Given the description of an element on the screen output the (x, y) to click on. 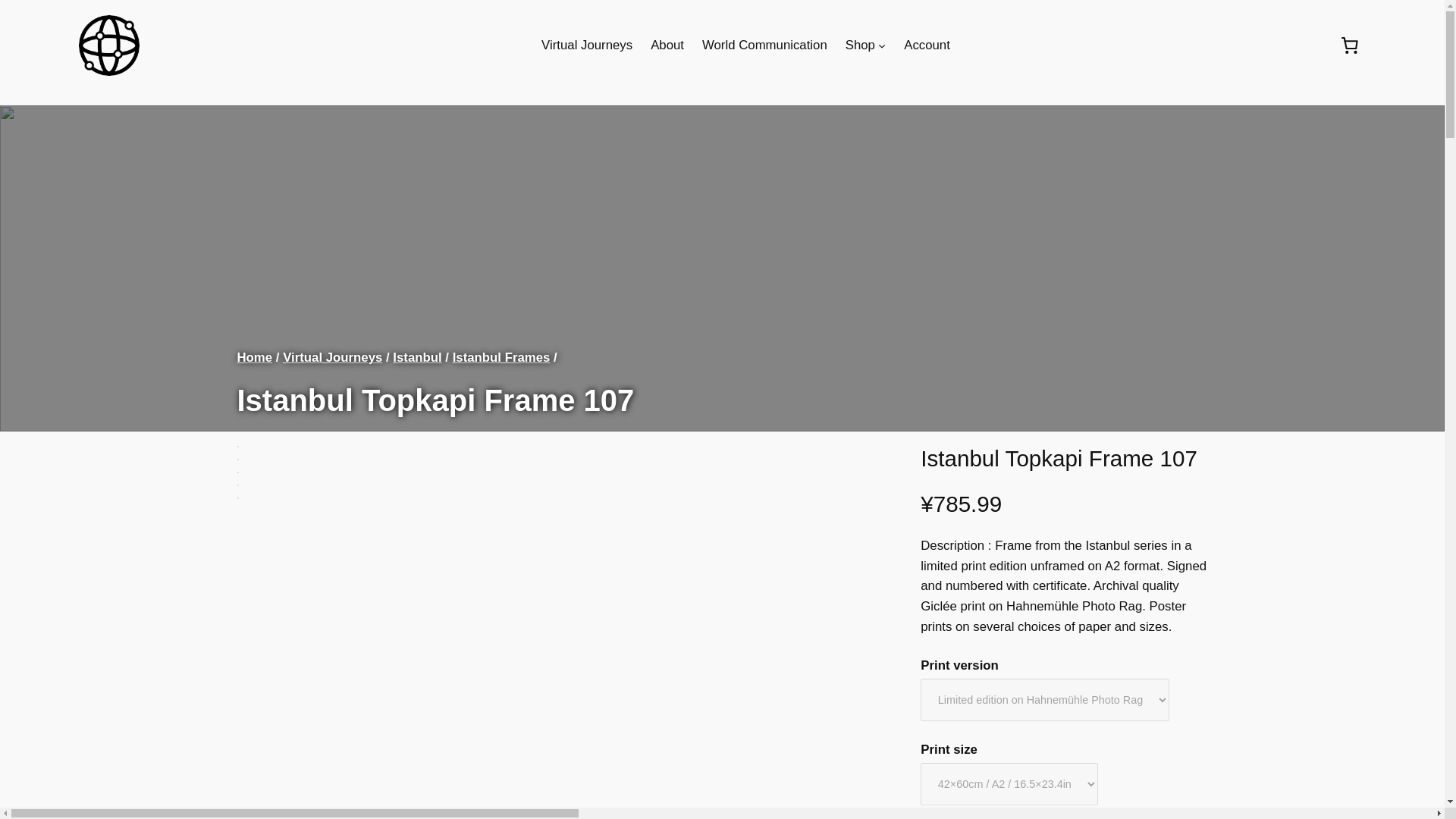
Virtual Journeys (586, 45)
Istanbul Frames (501, 357)
World Communication (764, 45)
Istanbul (417, 357)
Account (927, 45)
About (667, 45)
Virtual Journeys (331, 357)
Home (253, 357)
Shop (860, 45)
